Given the description of an element on the screen output the (x, y) to click on. 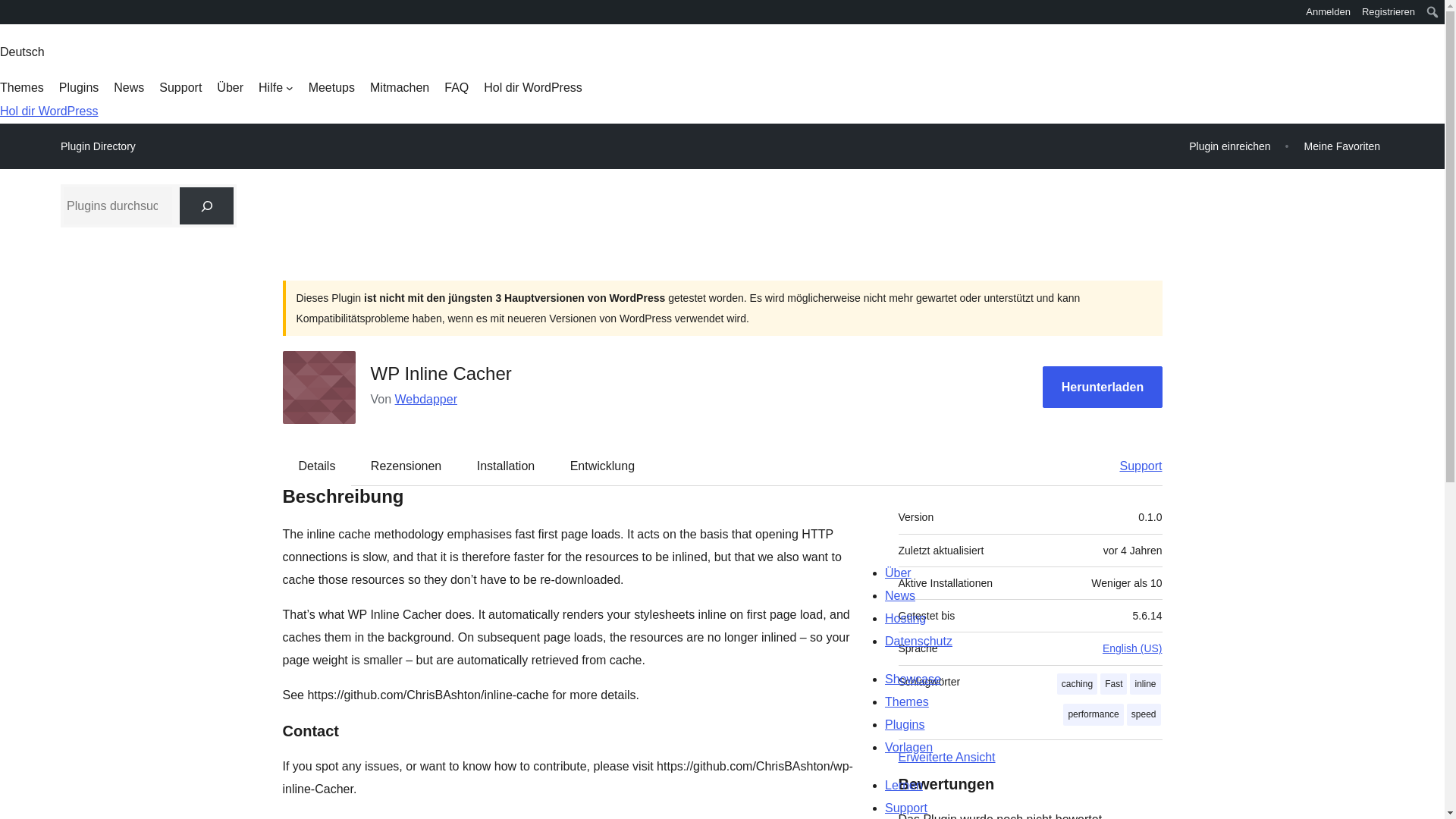
Meetups (331, 87)
WordPress.org (10, 16)
FAQ (456, 87)
Anmelden (1328, 12)
Plugin Directory (97, 146)
WordPress.org (10, 10)
Support (1132, 466)
Herunterladen (1101, 386)
Plugin einreichen (1229, 145)
Mitmachen (399, 87)
